Given the description of an element on the screen output the (x, y) to click on. 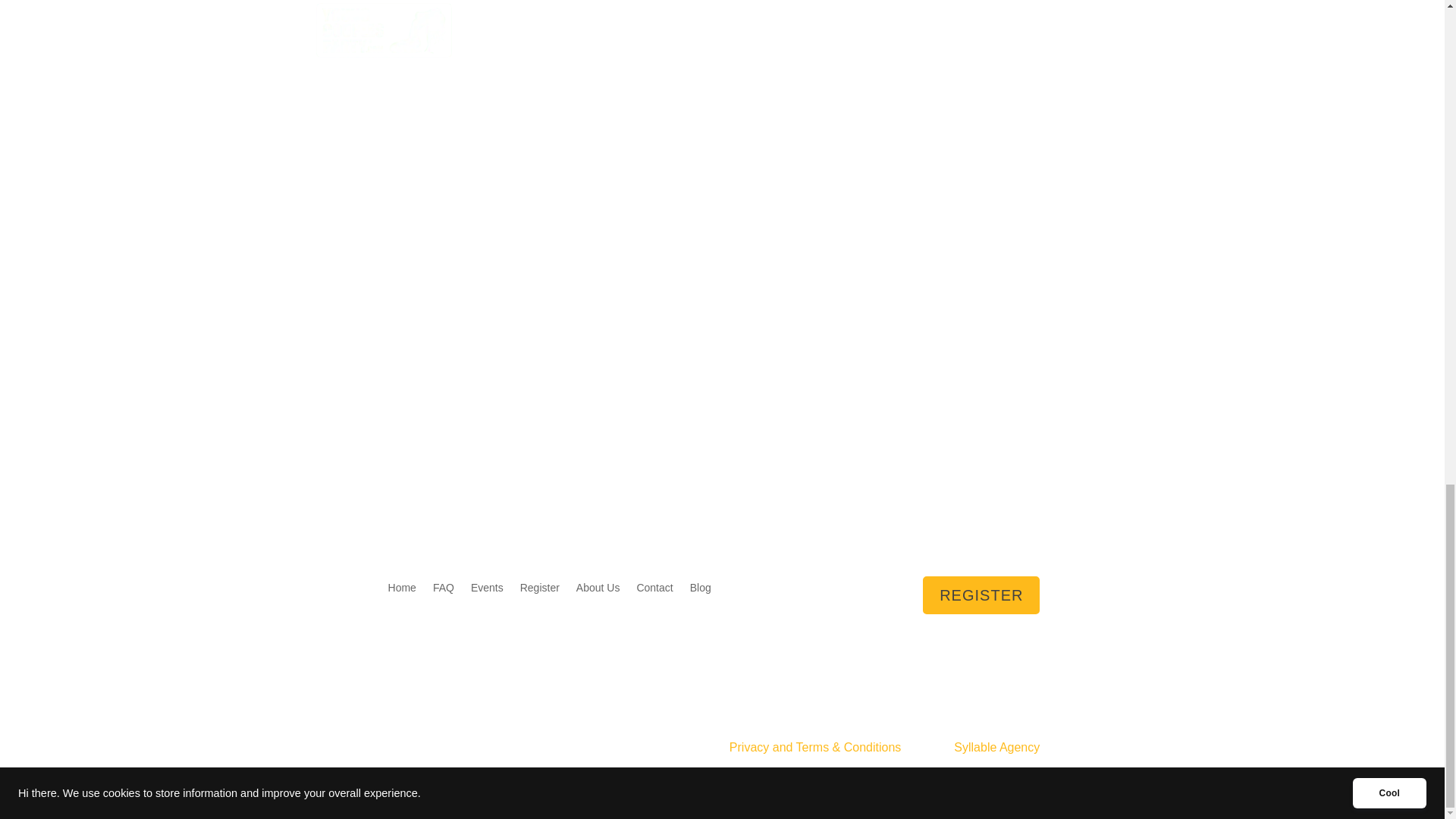
Home (402, 590)
Contact (654, 590)
Syllable Agency (996, 747)
REGISTER (981, 595)
FAQ (443, 590)
About Us (598, 590)
Events (486, 590)
Blog (700, 590)
Register (539, 590)
